Given the description of an element on the screen output the (x, y) to click on. 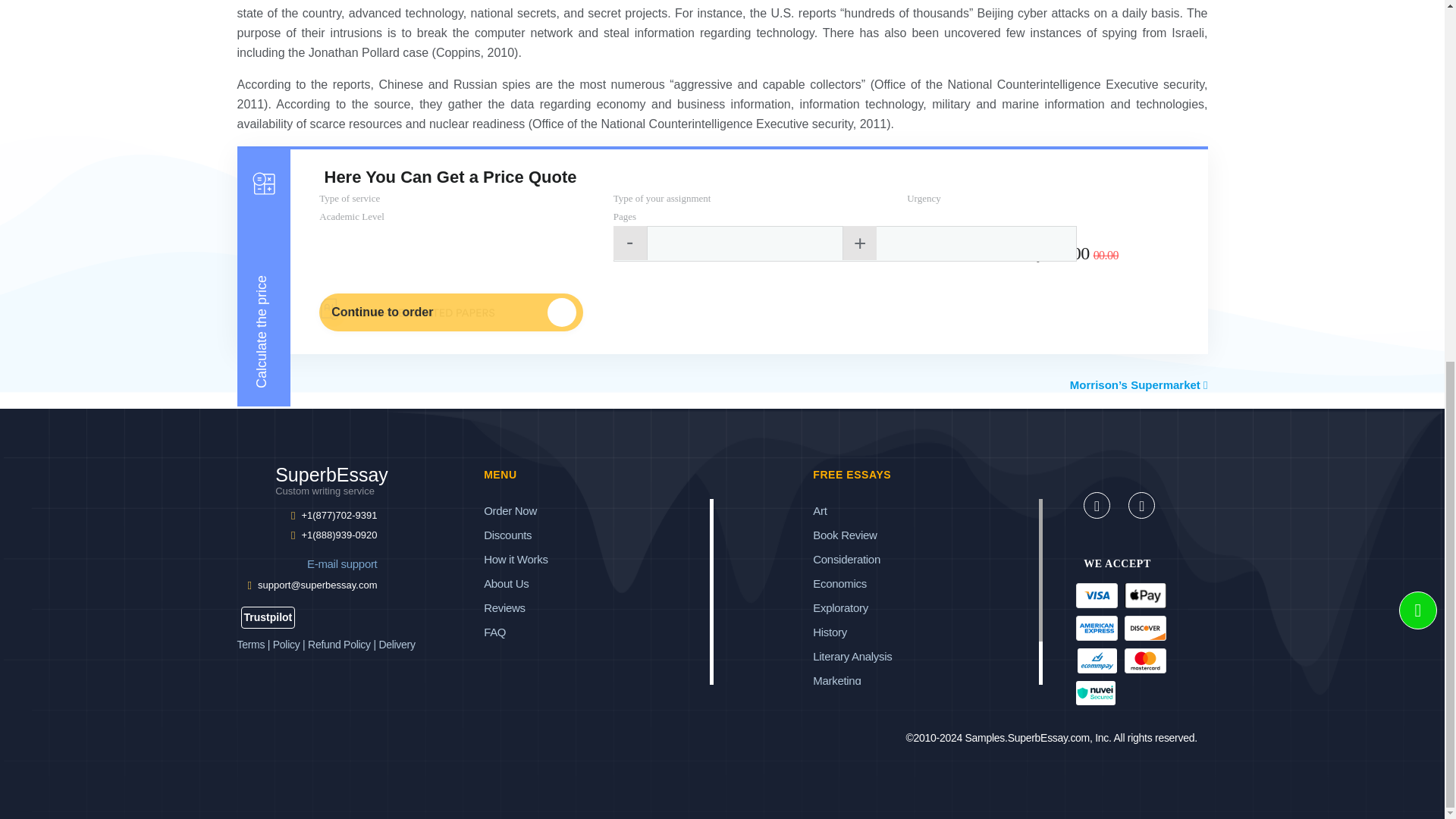
Philosophy (839, 704)
Economics (839, 583)
Research (836, 728)
Consideration (846, 558)
Book Review (844, 534)
Plus (859, 243)
History (316, 485)
Marketing (829, 631)
Exploratory (836, 680)
